Given the description of an element on the screen output the (x, y) to click on. 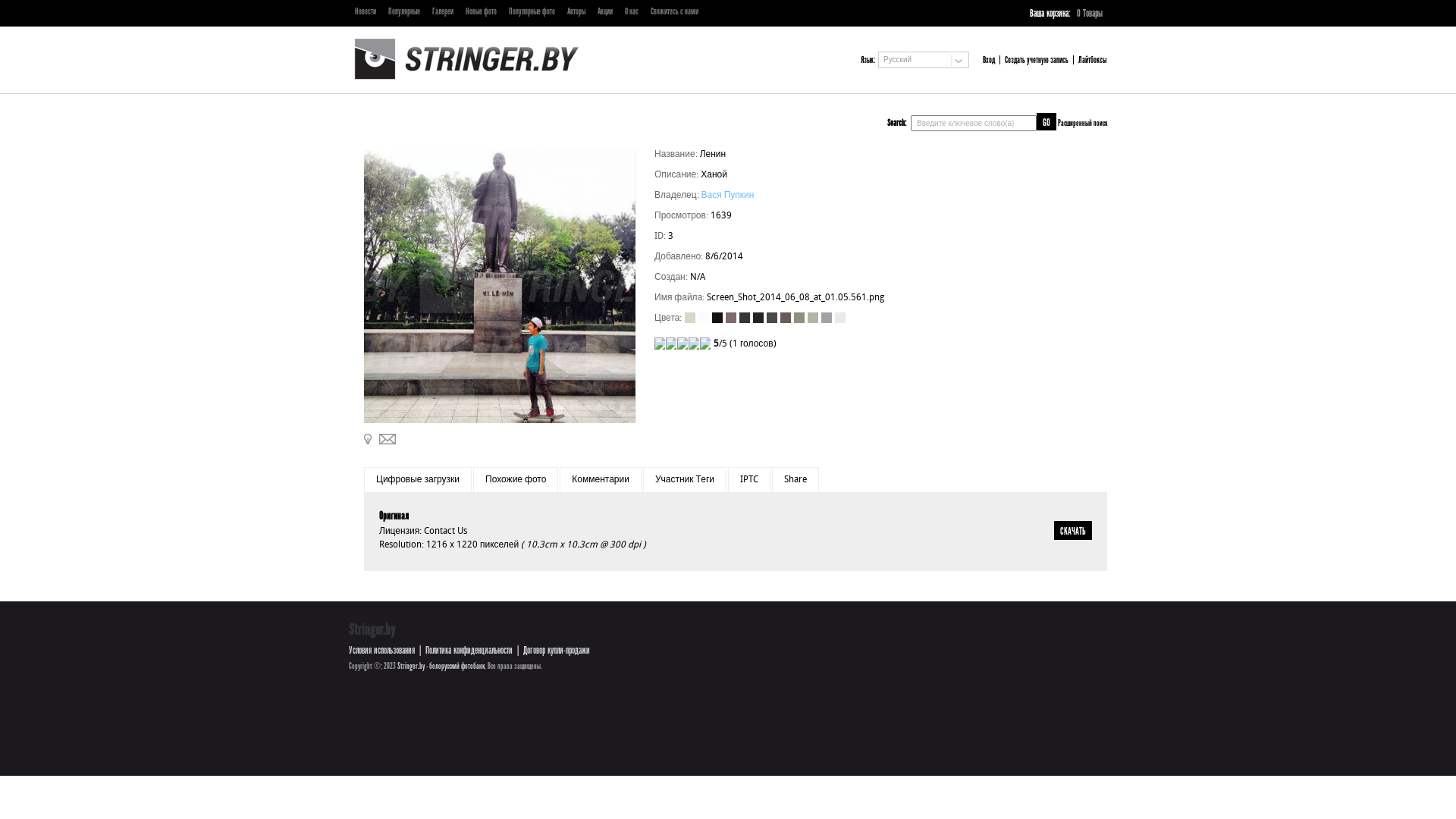
#d8d8c6 Element type: hover (690, 317)
#a2a2a2 Element type: hover (826, 317)
#b4b4a2 Element type: hover (812, 317)
#6c5a5a Element type: hover (785, 317)
#90907e Element type: hover (799, 317)
#484848 Element type: hover (771, 317)
#eaeaea Element type: hover (840, 317)
#121212 Element type: hover (717, 317)
#fcfcfc Element type: hover (703, 317)
#363636 Element type: hover (744, 317)
#242424 Element type: hover (758, 317)
#7e6c6c Element type: hover (730, 317)
E-mail Element type: hover (387, 438)
